Given the description of an element on the screen output the (x, y) to click on. 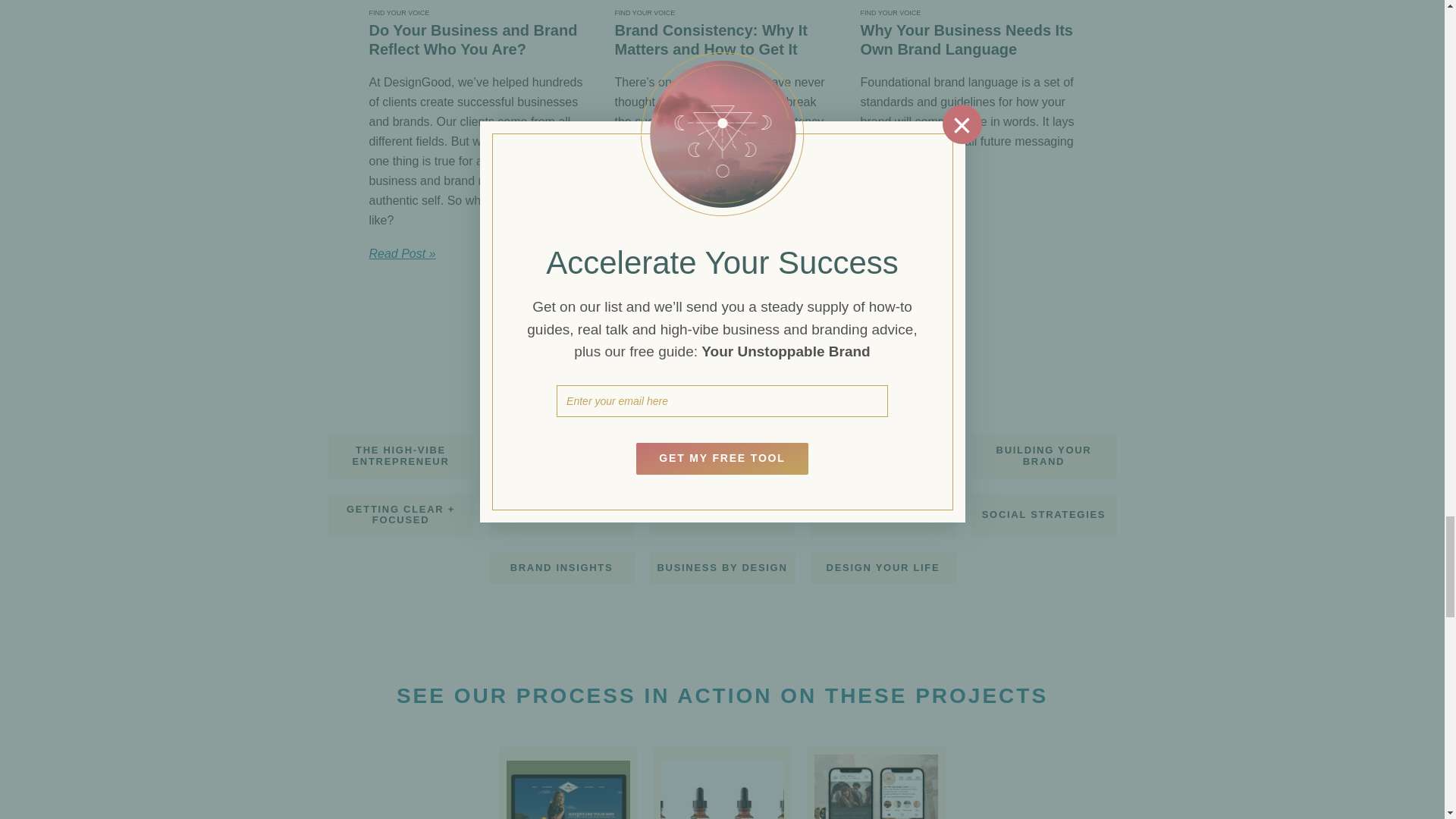
FIND YOUR VOICE (398, 12)
Do Your Business and Brand Reflect Who You Are? (475, 39)
